Given the description of an element on the screen output the (x, y) to click on. 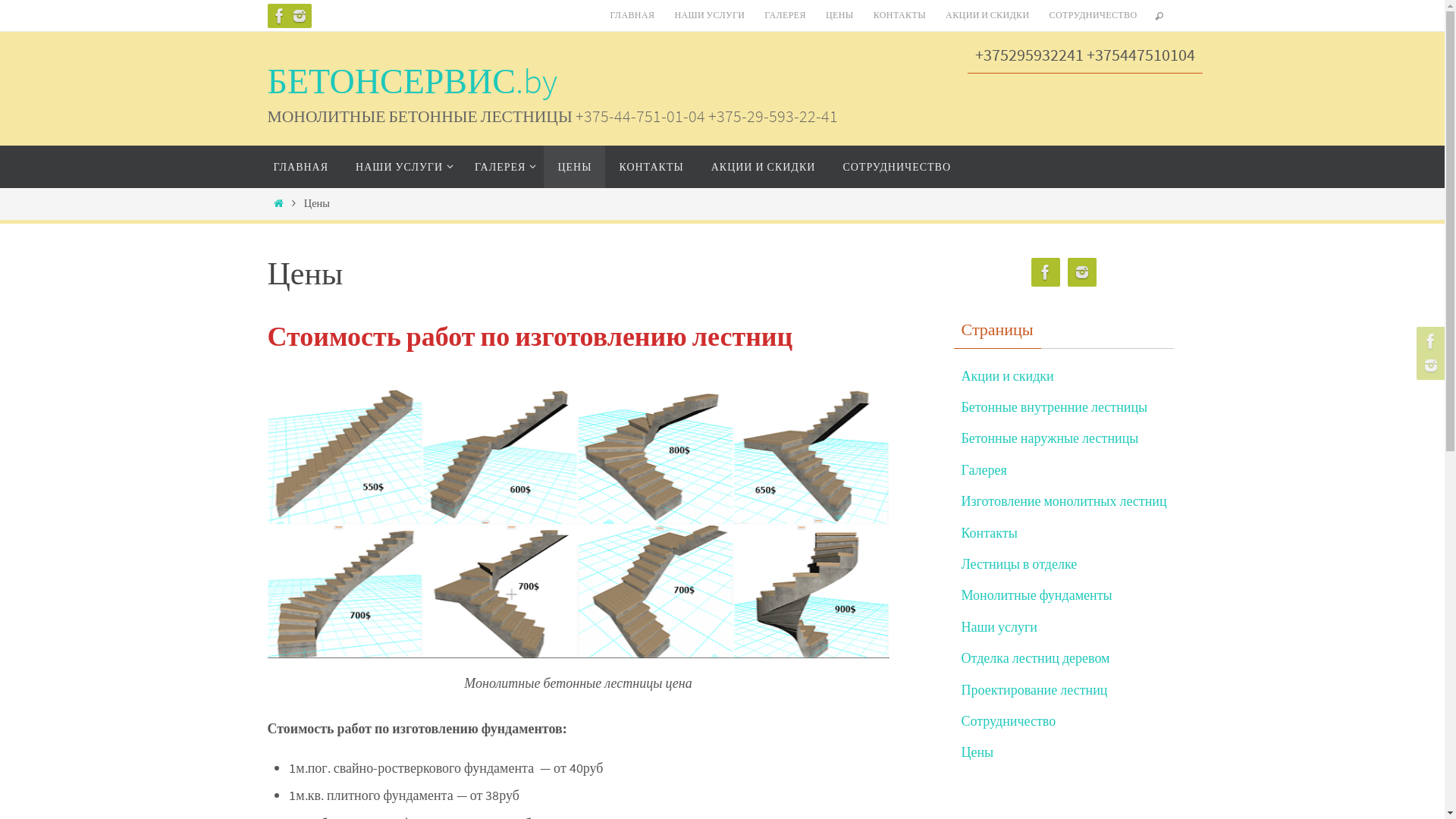
https://www.instagram.com/betonservice.by/?hl=ru Element type: hover (1428, 365)
https://www.instagram.com/betonservice.by/?hl=ru Element type: hover (298, 15)
https://www.instagram.com/betonservice.by/?hl=ru Element type: hover (1081, 272)
https://www.facebook.com/profile.php?id=103939485347872 Element type: hover (1045, 272)
https://www.facebook.com/profile.php?id=103939485347872 Element type: hover (278, 15)
https://www.facebook.com/profile.php?id=103939485347872 Element type: hover (1428, 340)
